Given the description of an element on the screen output the (x, y) to click on. 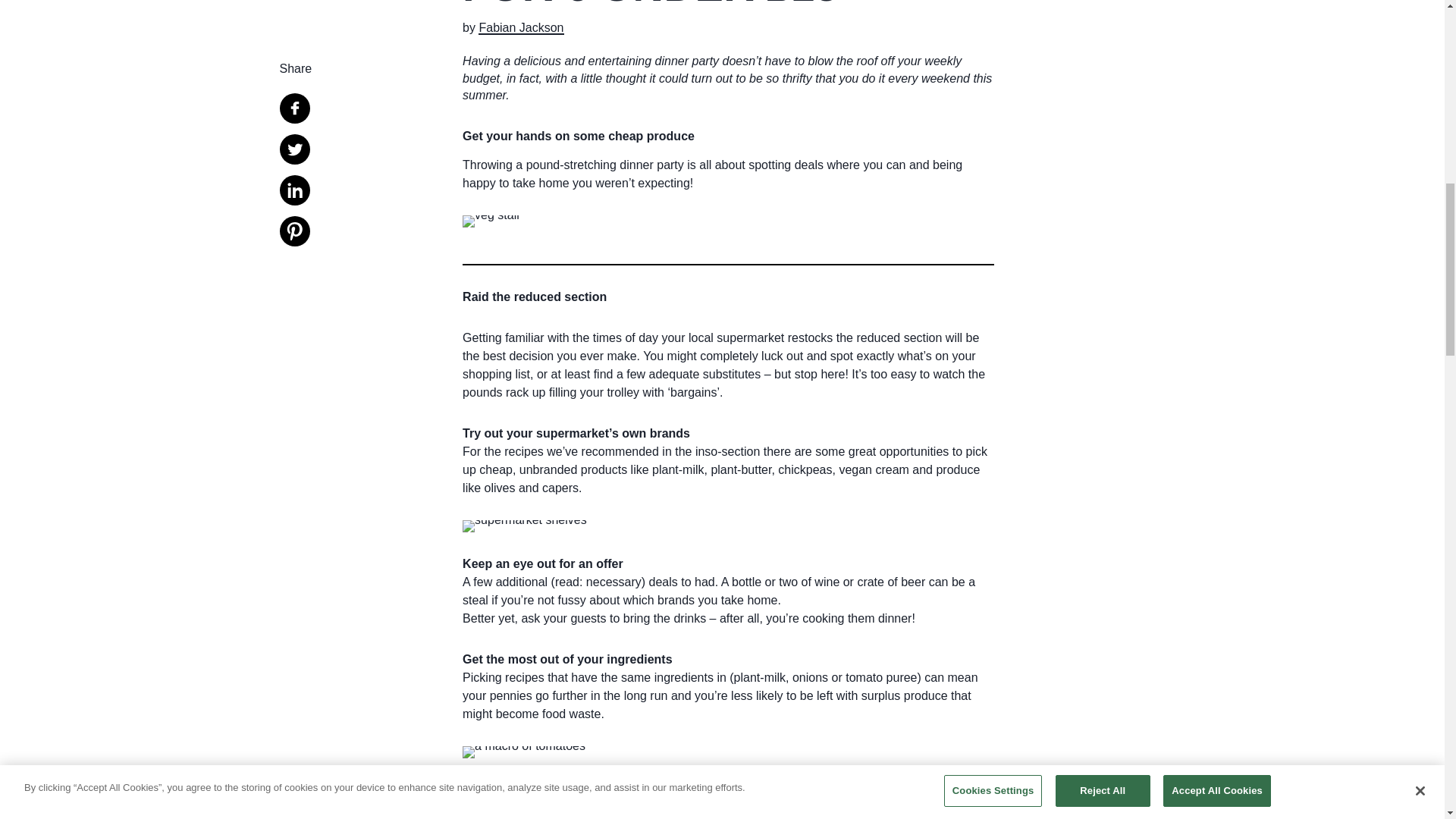
Fabian Jackson (521, 28)
